Given the description of an element on the screen output the (x, y) to click on. 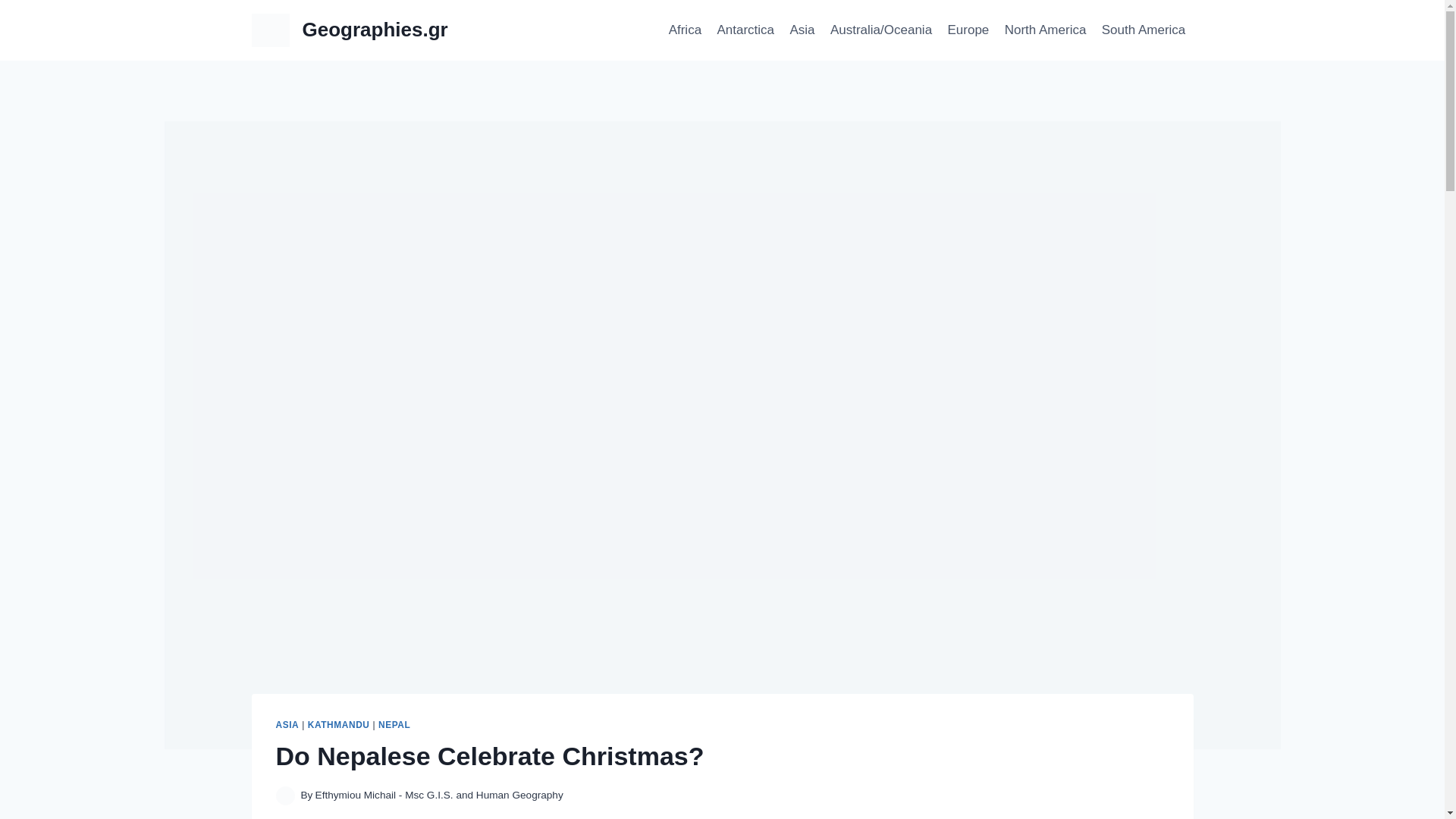
Africa (685, 30)
Antarctica (745, 30)
Geographies.gr (349, 30)
Efthymiou Michail - Msc G.I.S. and Human Geography (439, 794)
Asia (801, 30)
KATHMANDU (338, 724)
Europe (967, 30)
North America (1044, 30)
ASIA (287, 724)
NEPAL (394, 724)
